Given the description of an element on the screen output the (x, y) to click on. 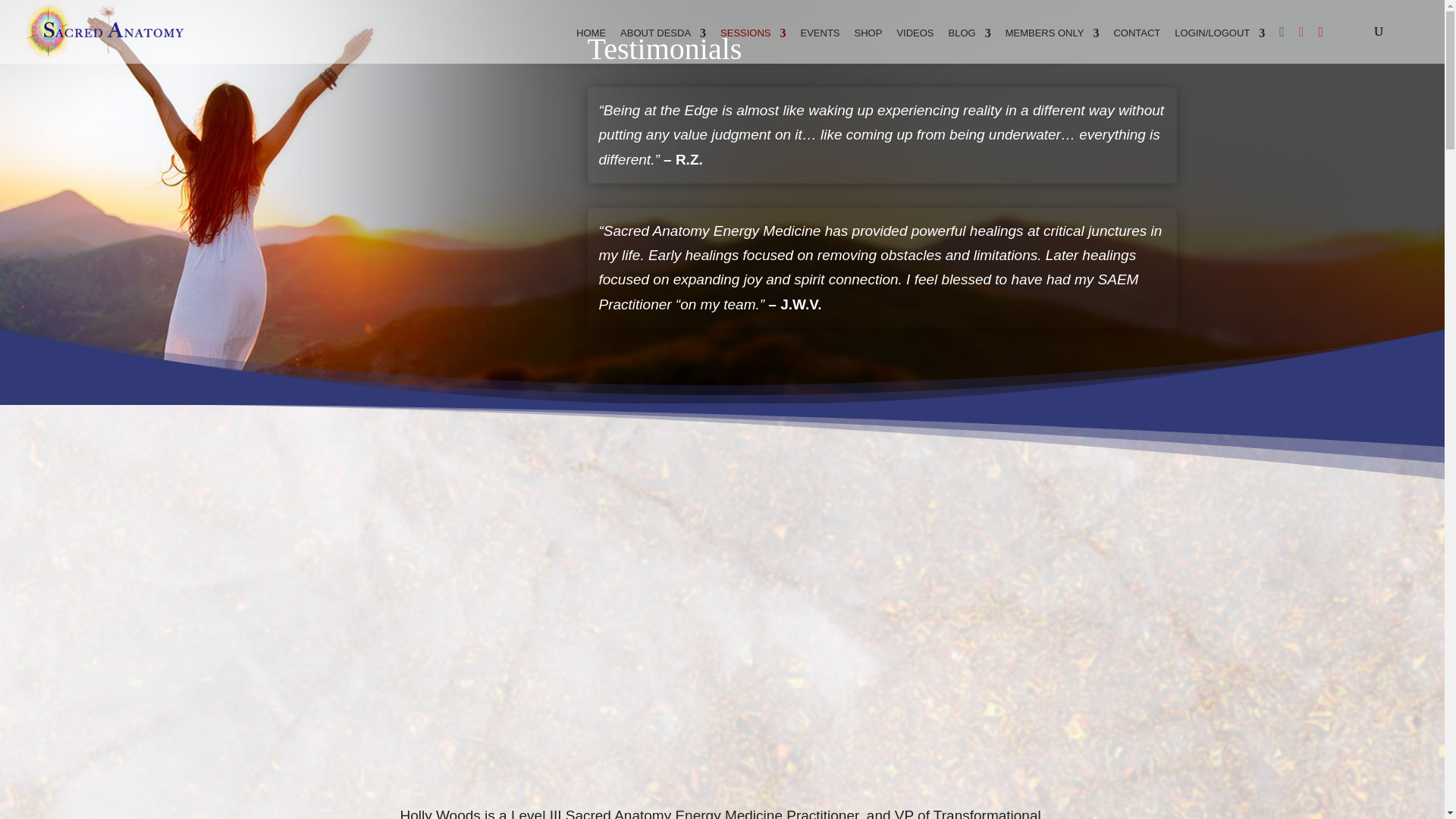
EVENTS (820, 45)
SESSIONS (753, 45)
CONTACT (1136, 45)
ABOUT DESDA (663, 45)
VIDEOS (914, 45)
MEMBERS ONLY (1052, 45)
BLOG (970, 45)
